Given the description of an element on the screen output the (x, y) to click on. 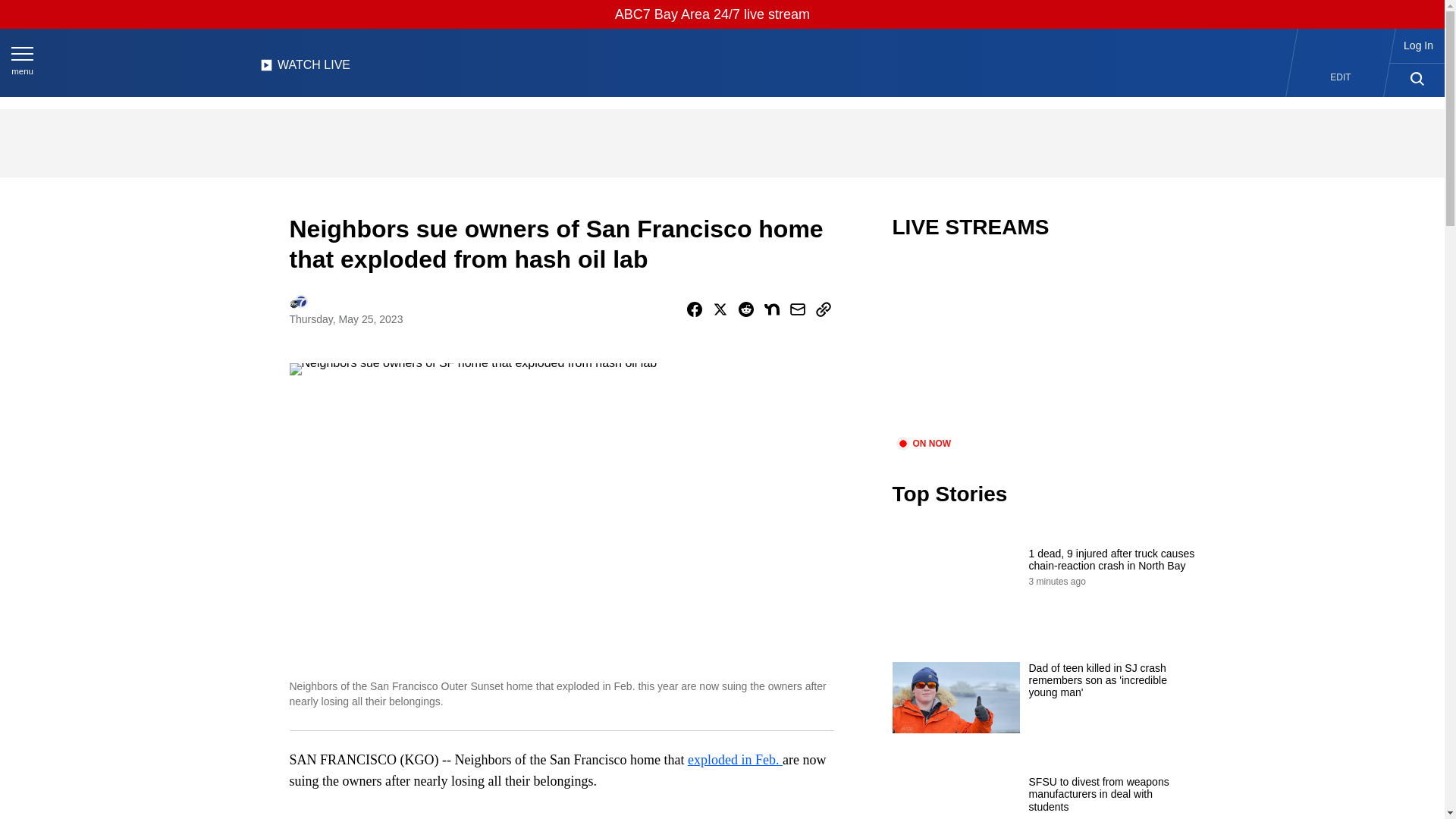
EDIT (1340, 77)
video.title (1043, 347)
WATCH LIVE (305, 69)
